Given the description of an element on the screen output the (x, y) to click on. 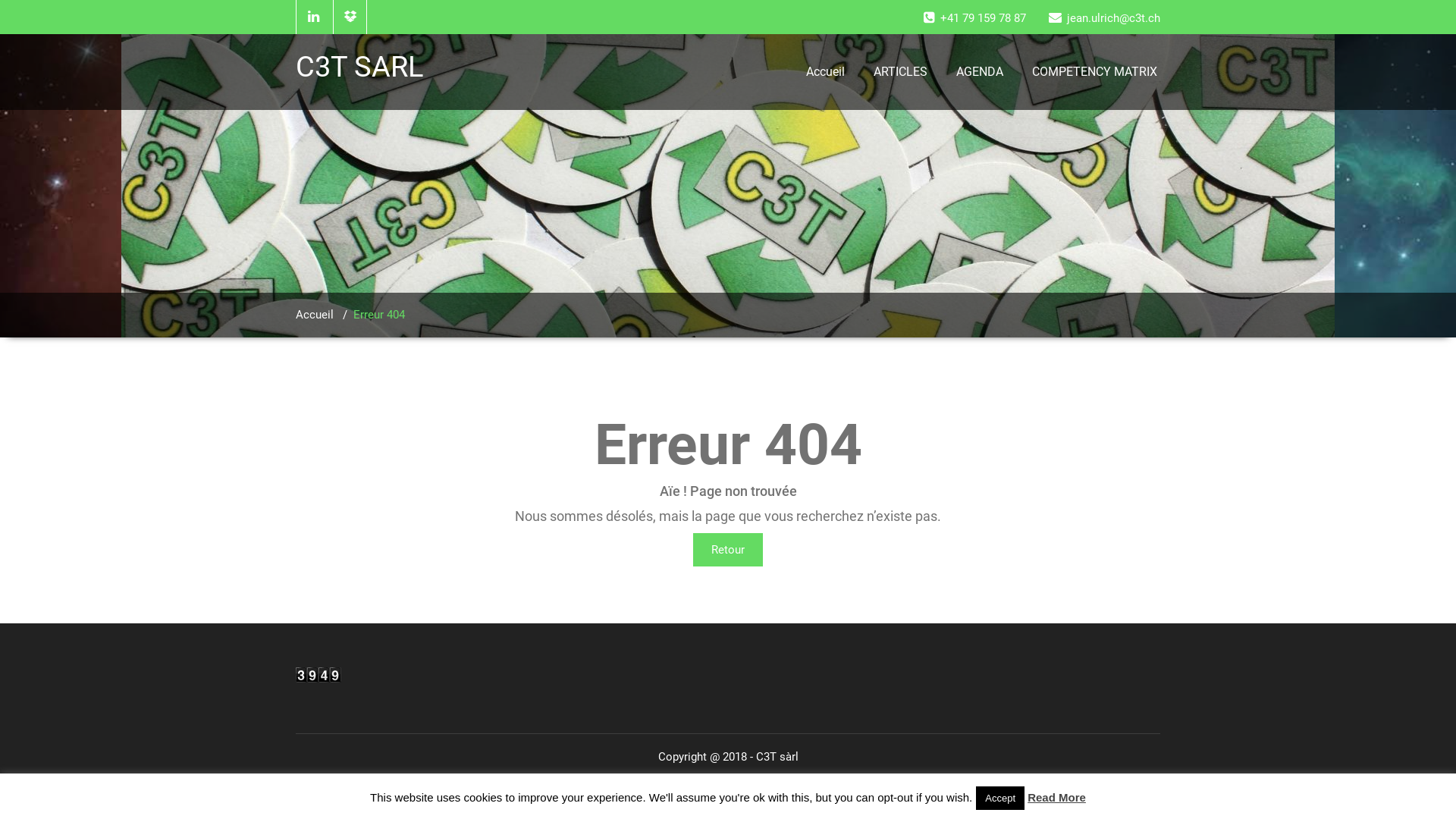
Accueil Element type: text (825, 71)
Accueil Element type: text (314, 314)
Retour Element type: text (727, 549)
Read More Element type: text (1056, 796)
AGENDA Element type: text (979, 71)
COMPETENCY MATRIX Element type: text (1094, 71)
ARTICLES Element type: text (900, 71)
C3T SARL Element type: text (364, 66)
Accept Element type: text (999, 797)
